Given the description of an element on the screen output the (x, y) to click on. 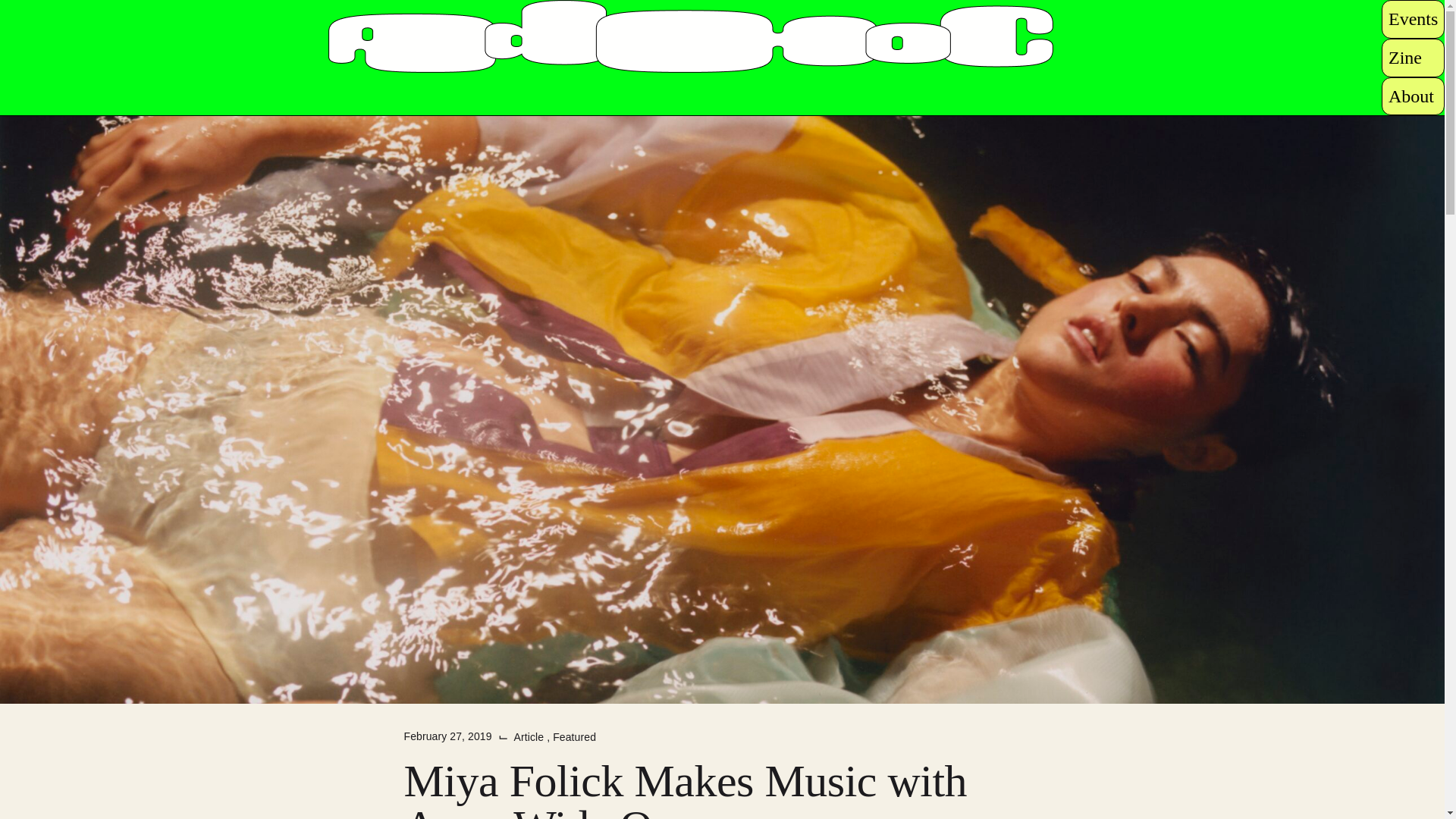
Featured (574, 736)
Article (530, 736)
February 27, 2019 (447, 736)
